Given the description of an element on the screen output the (x, y) to click on. 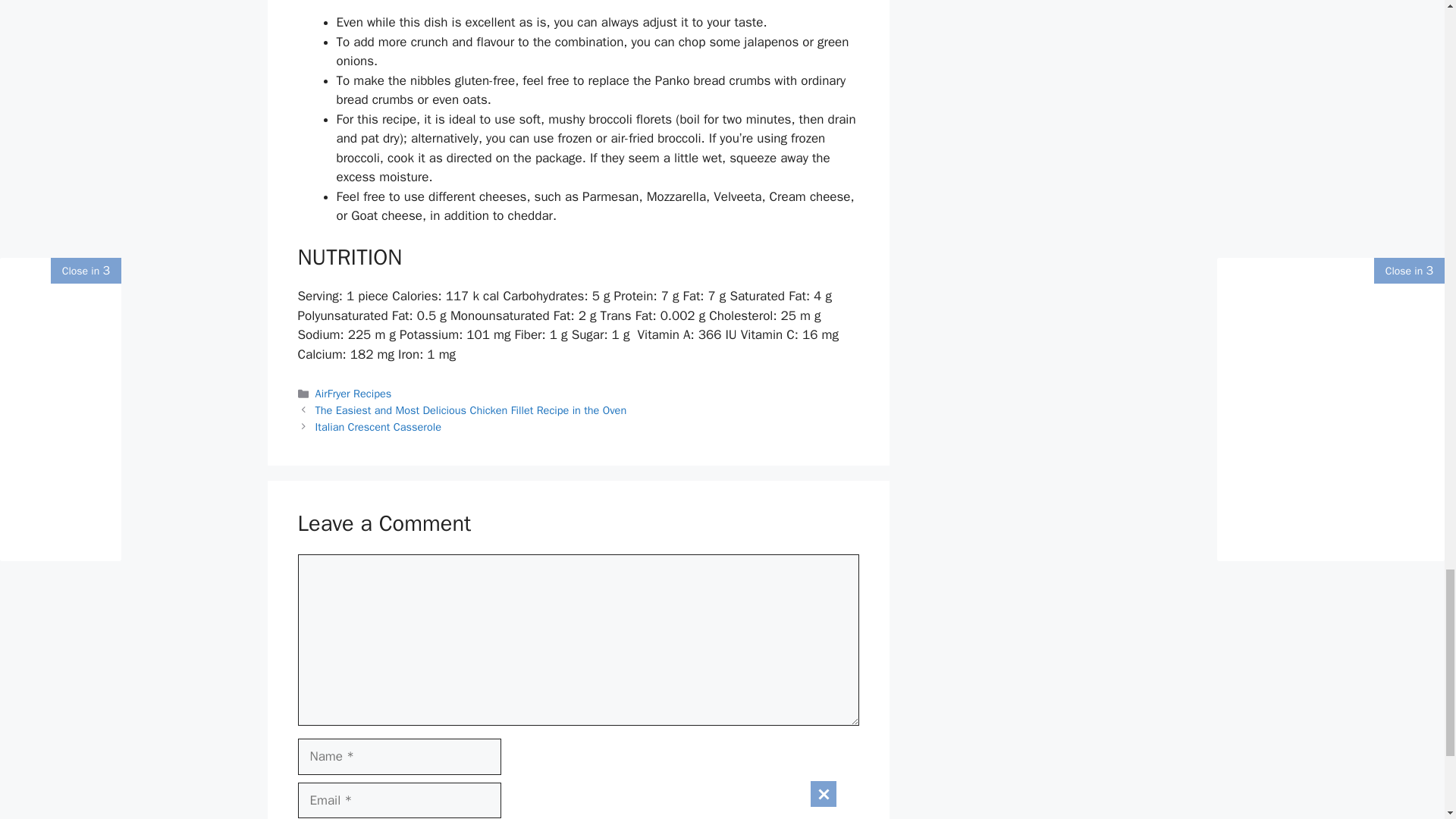
Italian Crescent Casserole (378, 427)
AirFryer Recipes (353, 393)
